Given the description of an element on the screen output the (x, y) to click on. 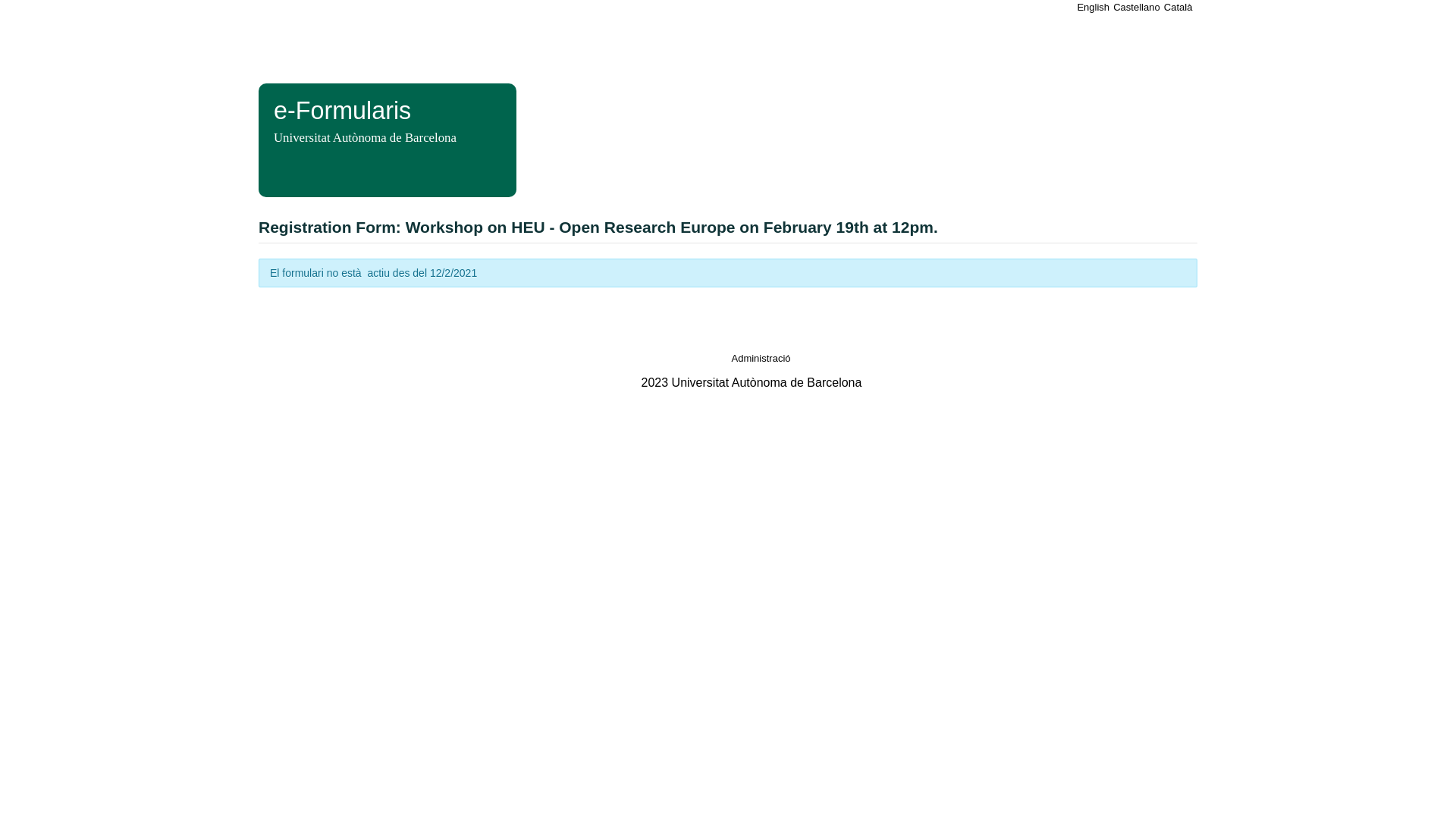
English Element type: text (1093, 7)
Castellano Element type: text (1136, 7)
Salta al contigut Element type: text (37, 7)
